Given the description of an element on the screen output the (x, y) to click on. 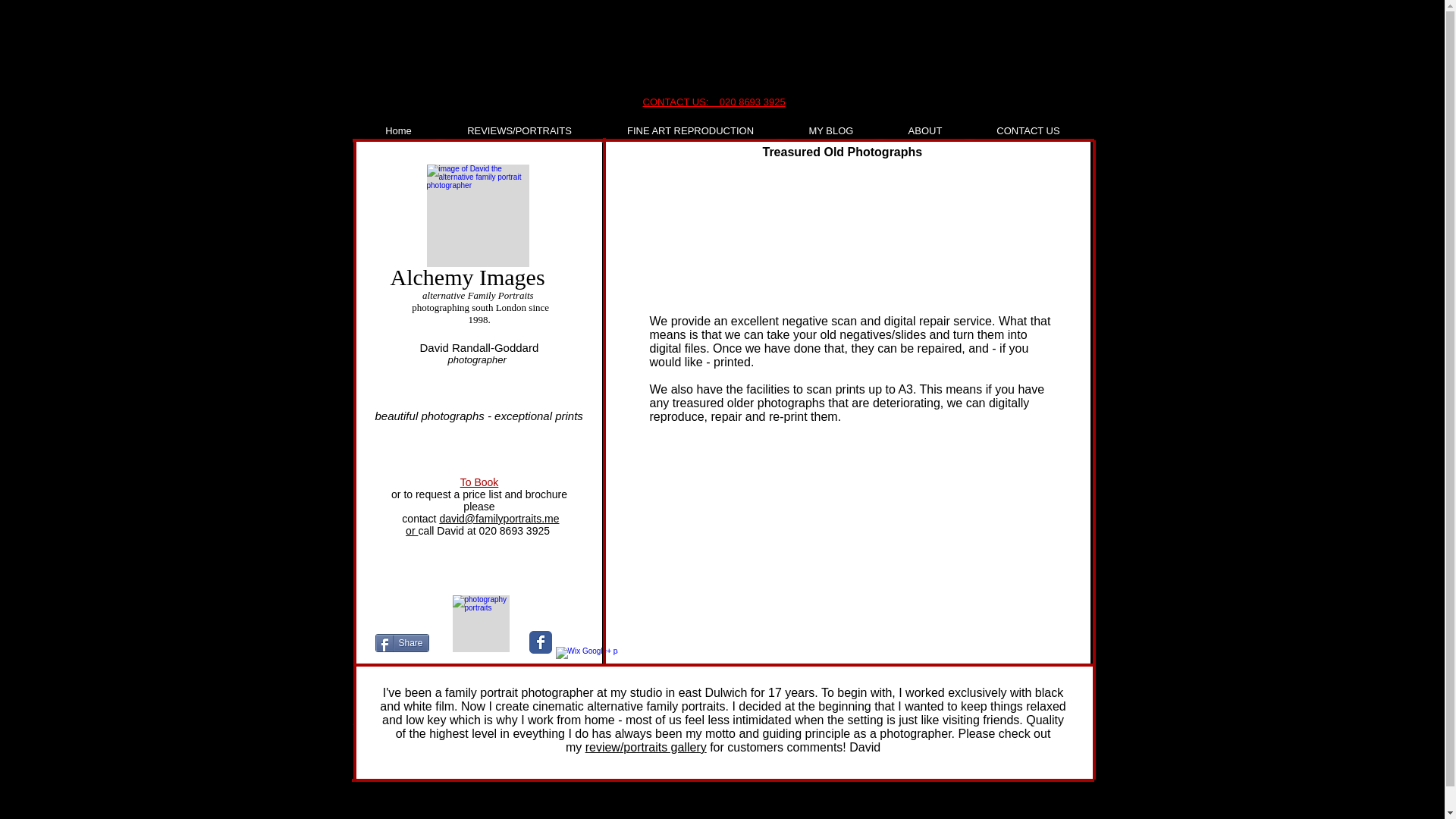
Home (398, 131)
CONTACT US (1028, 131)
Share (401, 642)
CONTACT US:    020 8693 3925 (714, 101)
To Book (479, 481)
FINE ART REPRODUCTION (690, 131)
portrait photographs (479, 623)
Share (401, 642)
ABOUT (924, 131)
or  (411, 530)
MY BLOG (831, 131)
